Given the description of an element on the screen output the (x, y) to click on. 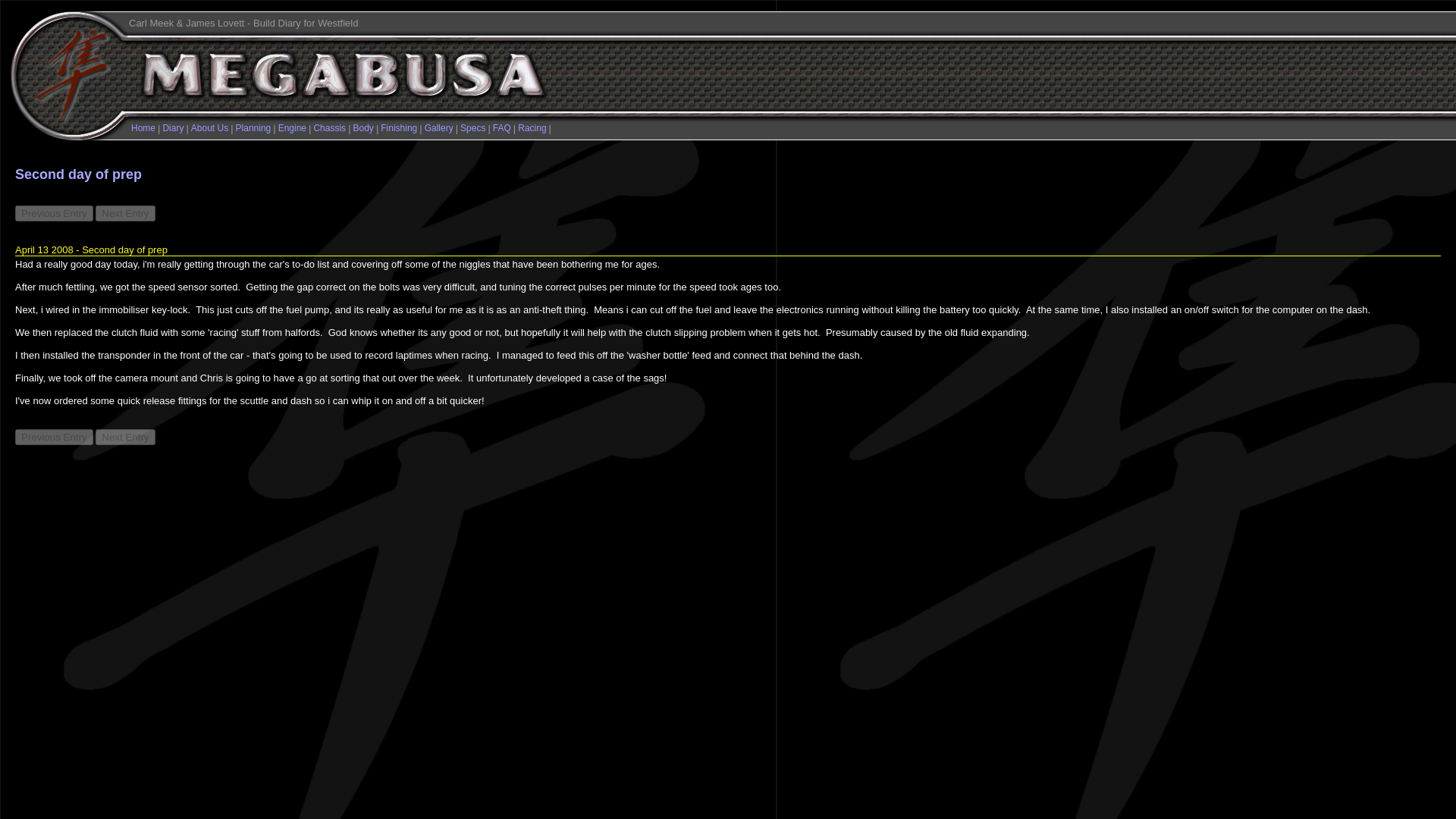
Previous Entry (53, 437)
Gallery (438, 127)
FAQ (502, 127)
Next Entry (125, 213)
Home (143, 127)
Finishing (398, 127)
Engine (291, 127)
Planning (252, 127)
Previous Entry (53, 213)
About Us (209, 127)
Diary (172, 127)
Body (363, 127)
Racing (532, 127)
Next Entry (125, 437)
Chassis (329, 127)
